Given the description of an element on the screen output the (x, y) to click on. 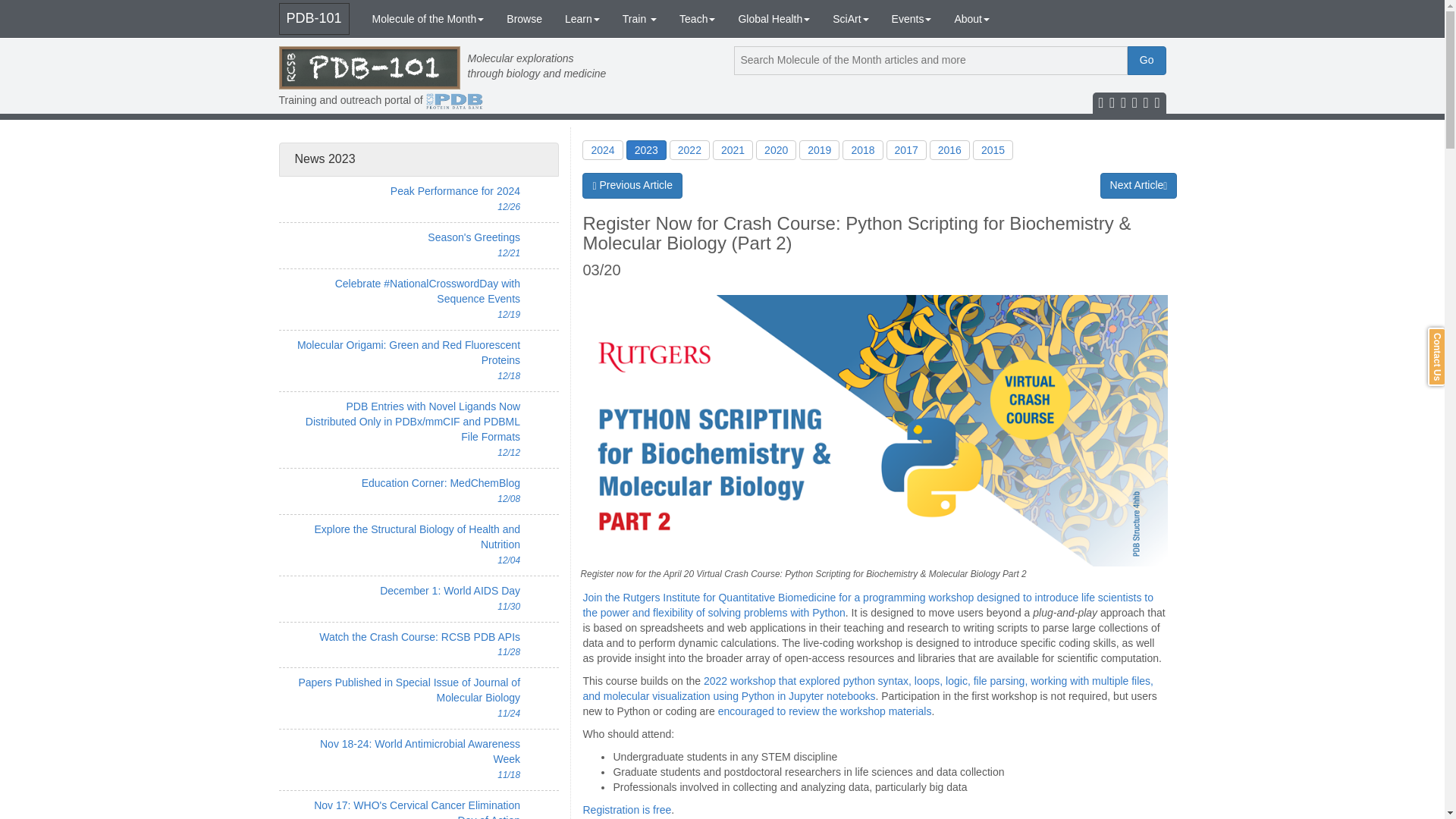
PDB-101 (314, 19)
Browse (524, 18)
Global Health (773, 18)
Molecule of the Month (428, 18)
Learn (582, 18)
Teach (697, 18)
Train (639, 18)
